Given the description of an element on the screen output the (x, y) to click on. 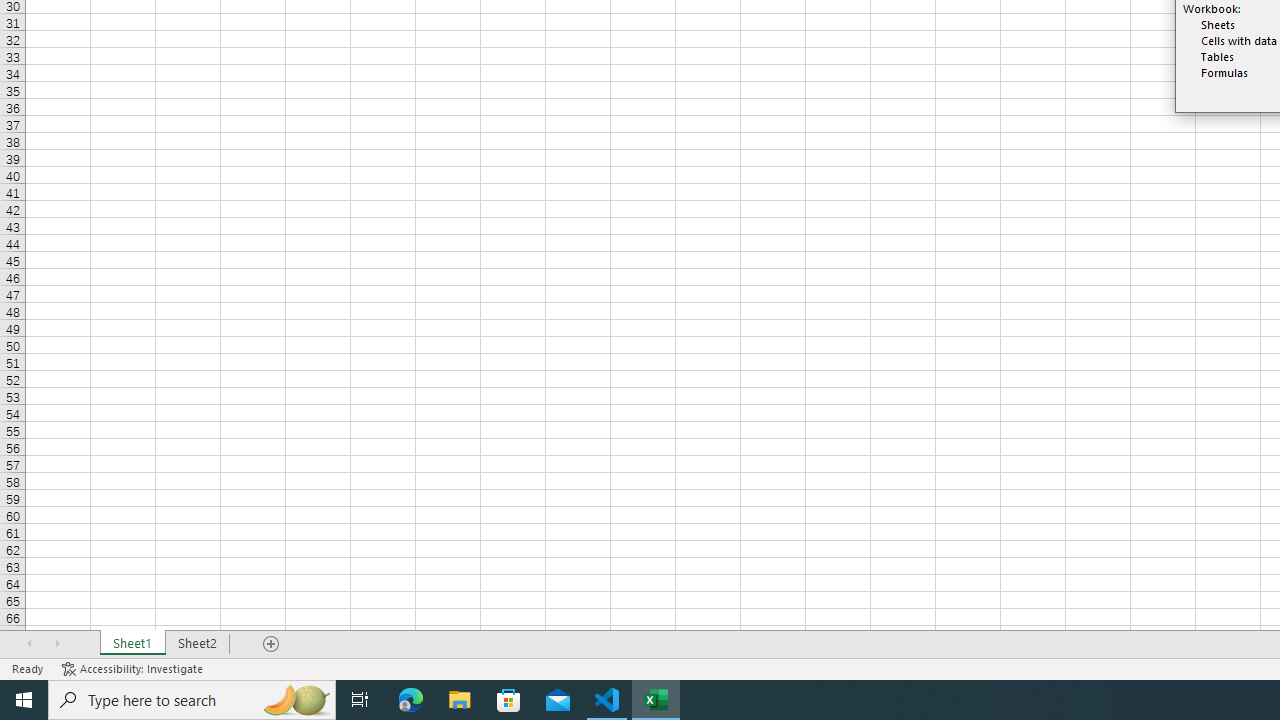
Search highlights icon opens search home window (295, 699)
